Given the description of an element on the screen output the (x, y) to click on. 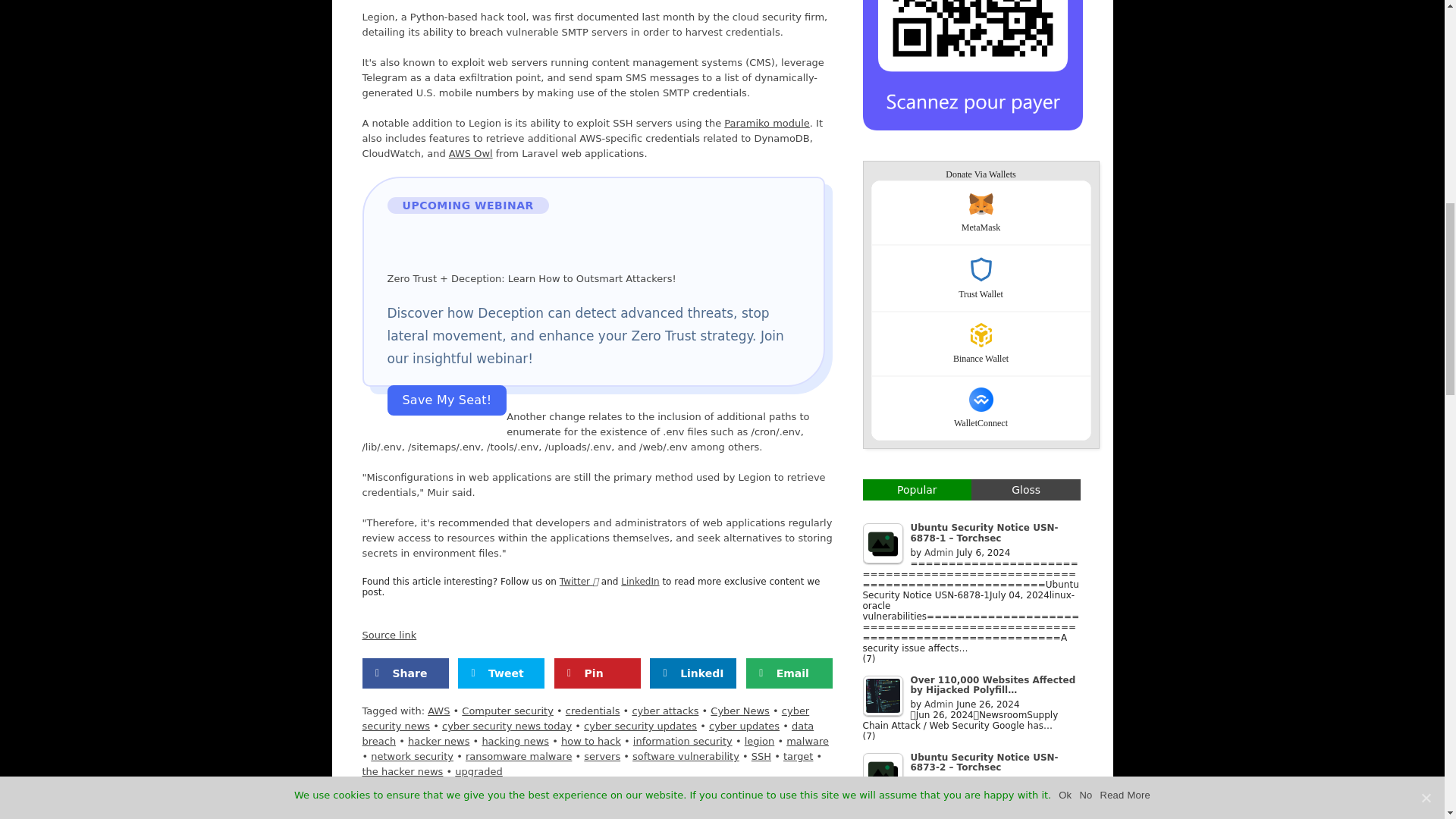
Gloss (1025, 489)
Ubuntu Security Notice USN-6873-2 - Torchsec (882, 772)
Ubuntu Security Notice USN-6878-1 - Torchsec (882, 543)
Popular (917, 489)
